Given the description of an element on the screen output the (x, y) to click on. 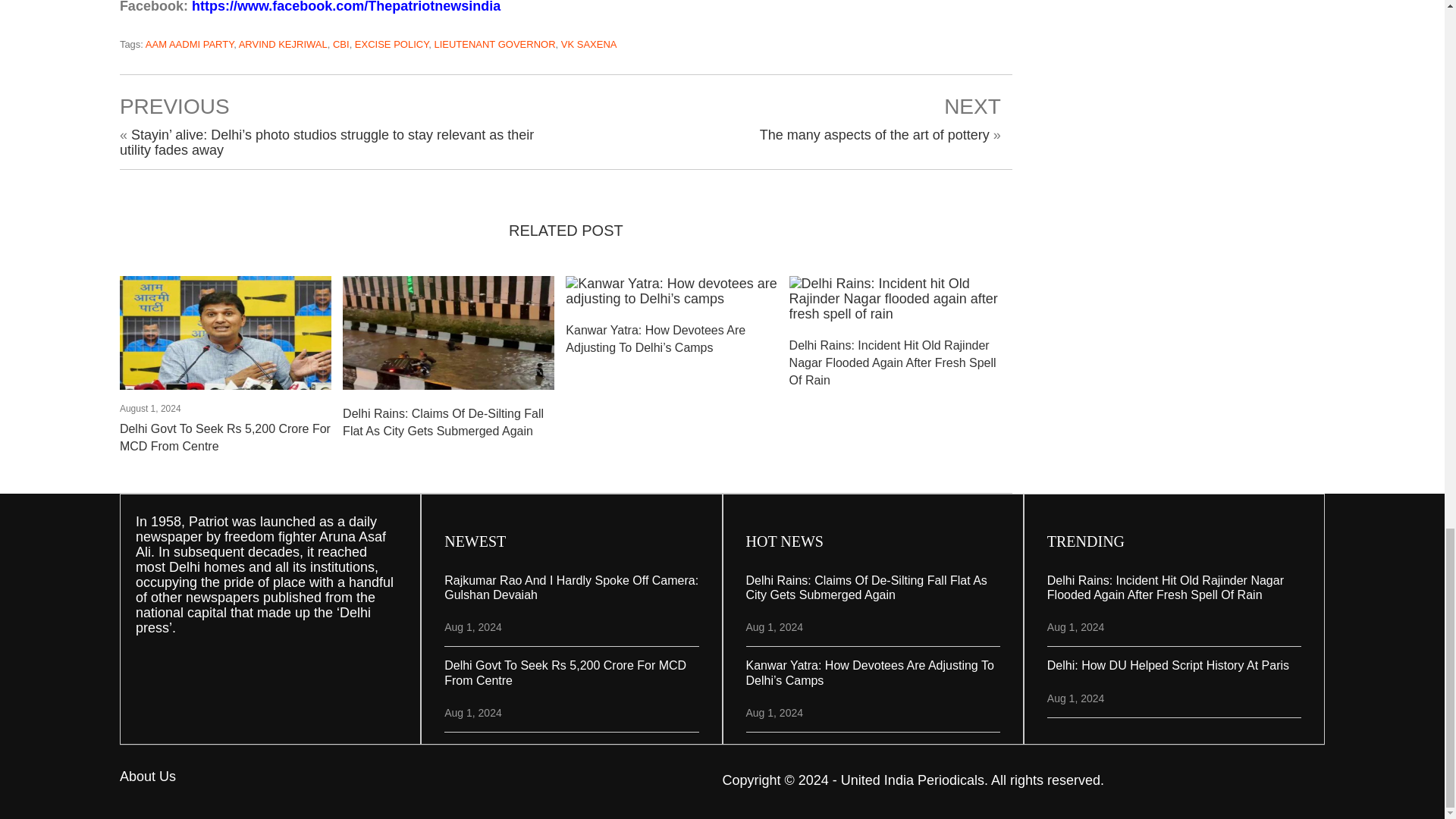
Delhi govt to seek Rs 5,200 crore for MCD from Centre (225, 337)
